Given the description of an element on the screen output the (x, y) to click on. 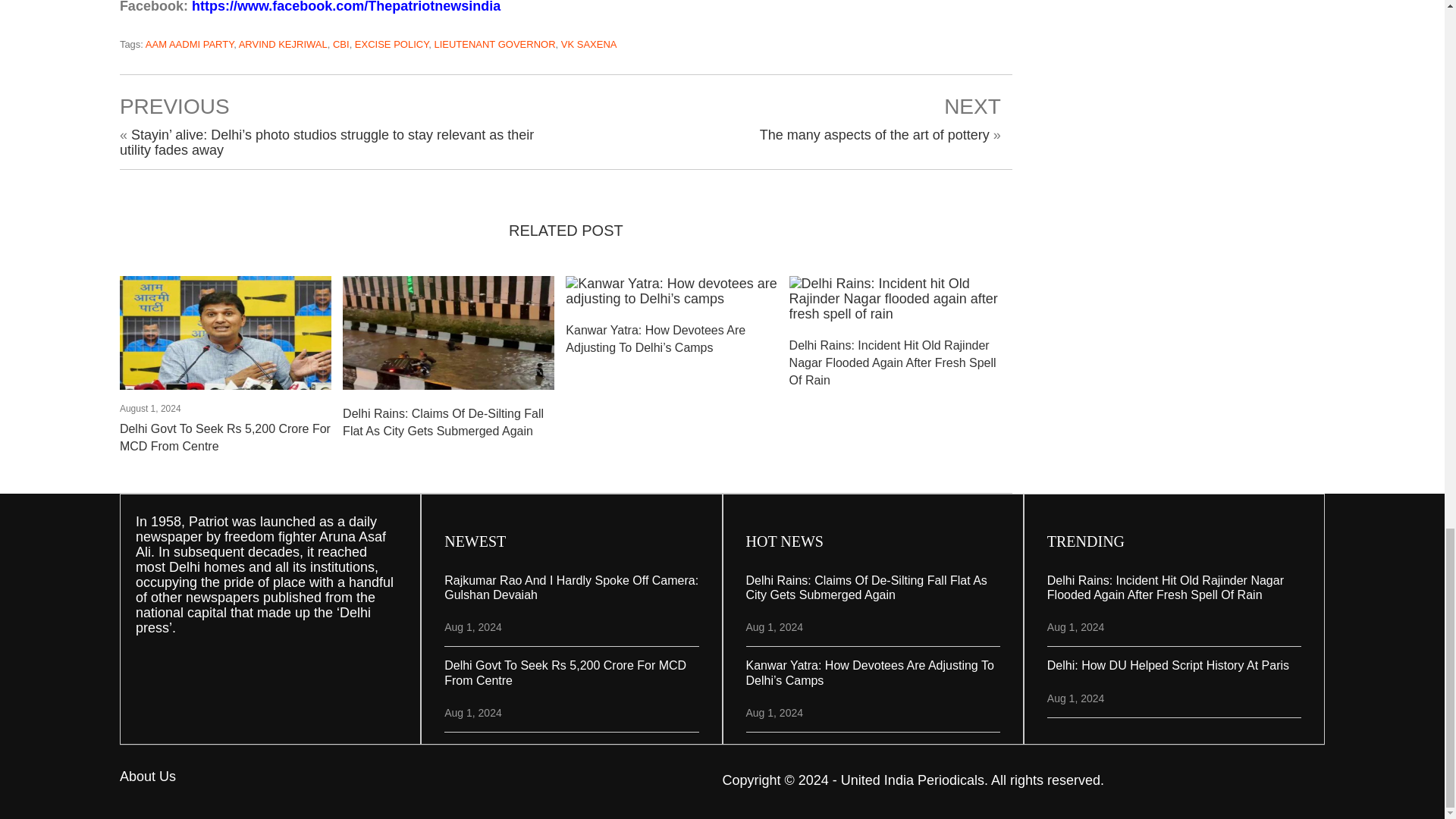
Delhi govt to seek Rs 5,200 crore for MCD from Centre (225, 337)
